Given the description of an element on the screen output the (x, y) to click on. 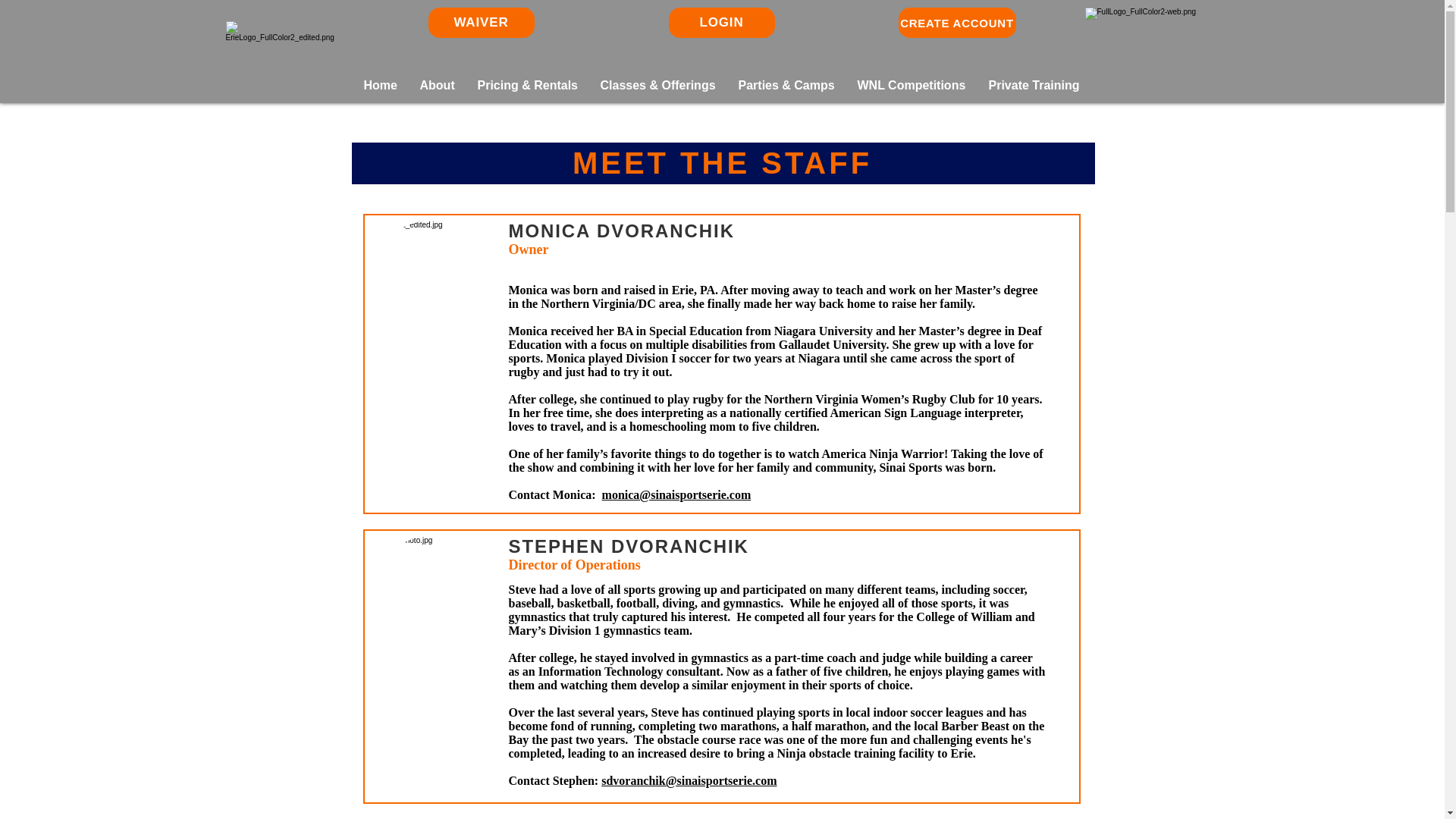
About (436, 85)
WAIVER (481, 22)
Home (379, 85)
CREATE ACCOUNT (956, 22)
LOGIN (721, 22)
